Given the description of an element on the screen output the (x, y) to click on. 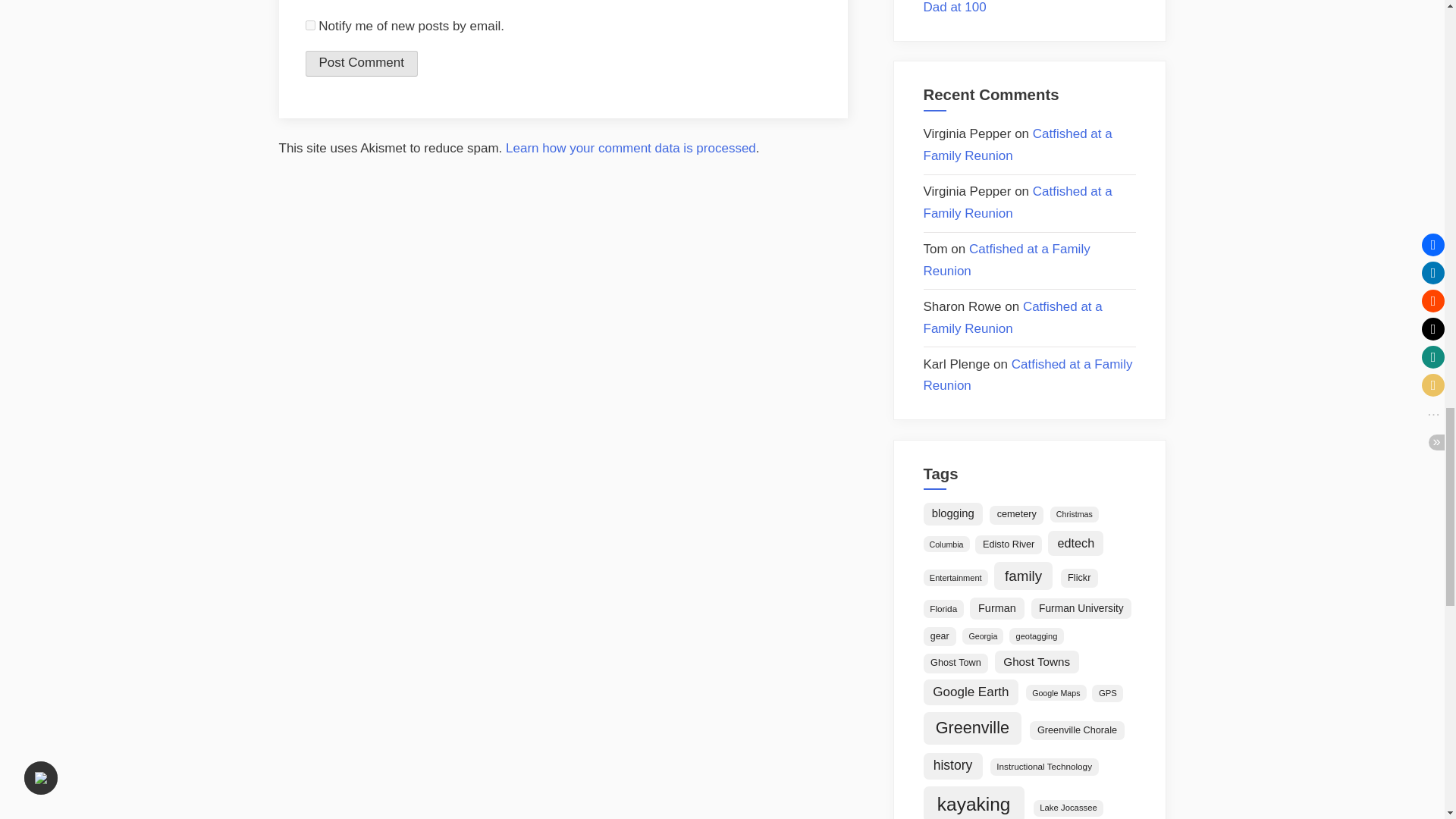
Learn how your comment data is processed (630, 147)
Post Comment (360, 63)
subscribe (309, 25)
Post Comment (360, 63)
